Given the description of an element on the screen output the (x, y) to click on. 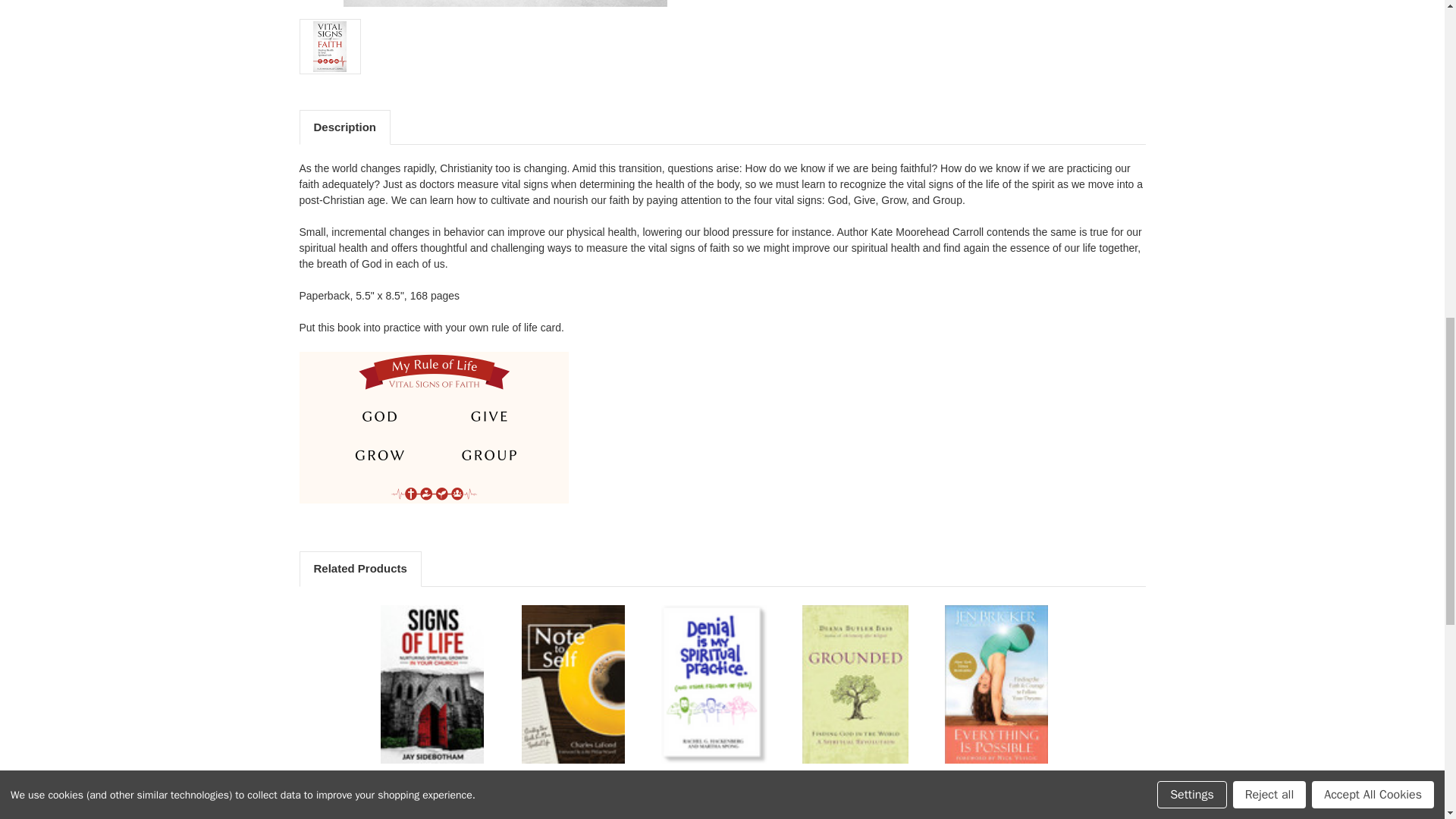
Vital Signs of Faith: Finding Health in Your Spiritual Life (504, 3)
vitalsignsoffaith-rule-of-life-card.jpg (432, 427)
